Given the description of an element on the screen output the (x, y) to click on. 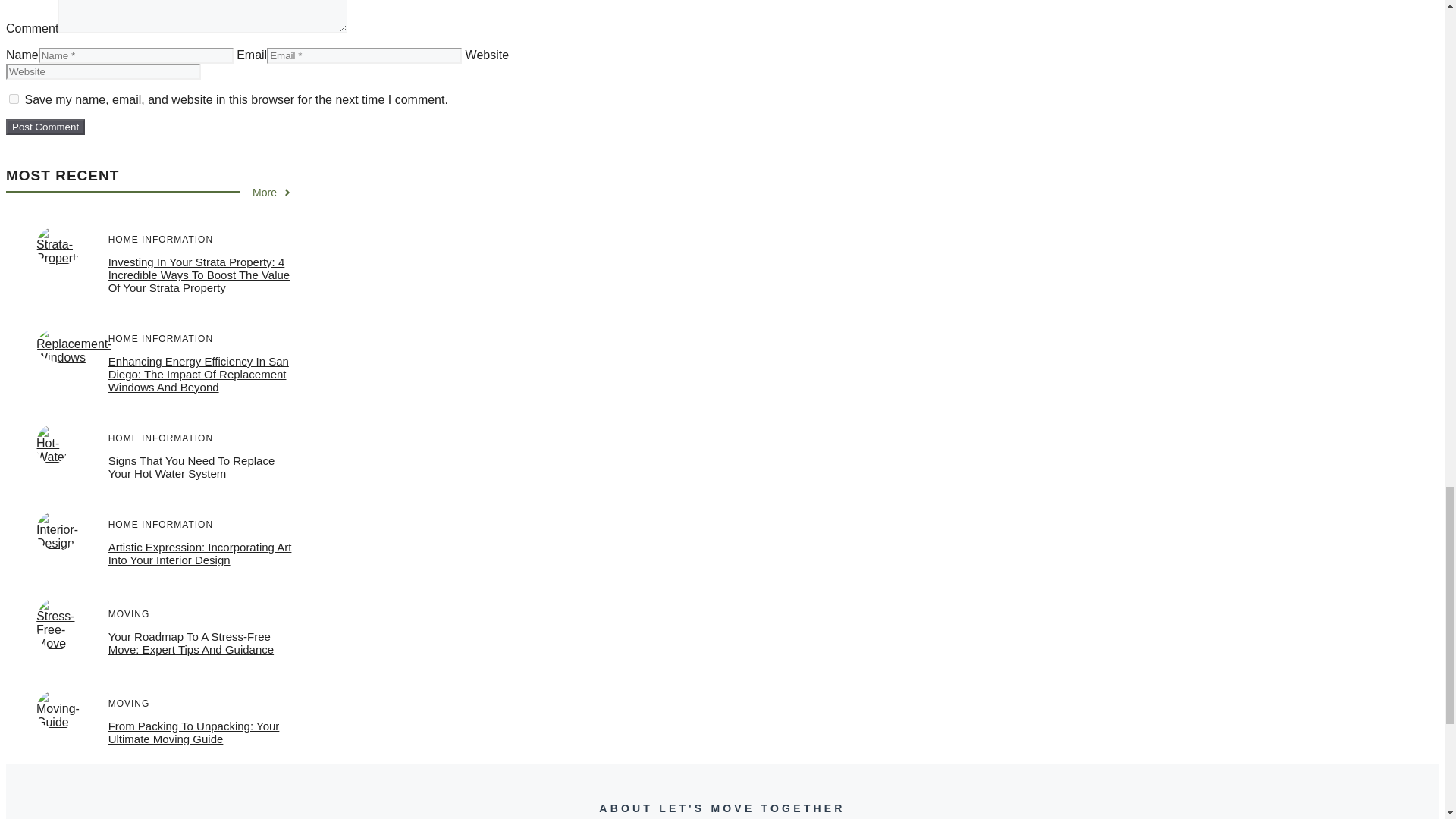
yes (13, 99)
Signs That You Need To Replace Your Hot Water System (191, 466)
From Packing To Unpacking: Your Ultimate Moving Guide (193, 732)
Your Roadmap To A Stress-Free Move: Expert Tips And Guidance (190, 642)
Post Comment (44, 126)
Post Comment (44, 126)
More (271, 192)
